Given the description of an element on the screen output the (x, y) to click on. 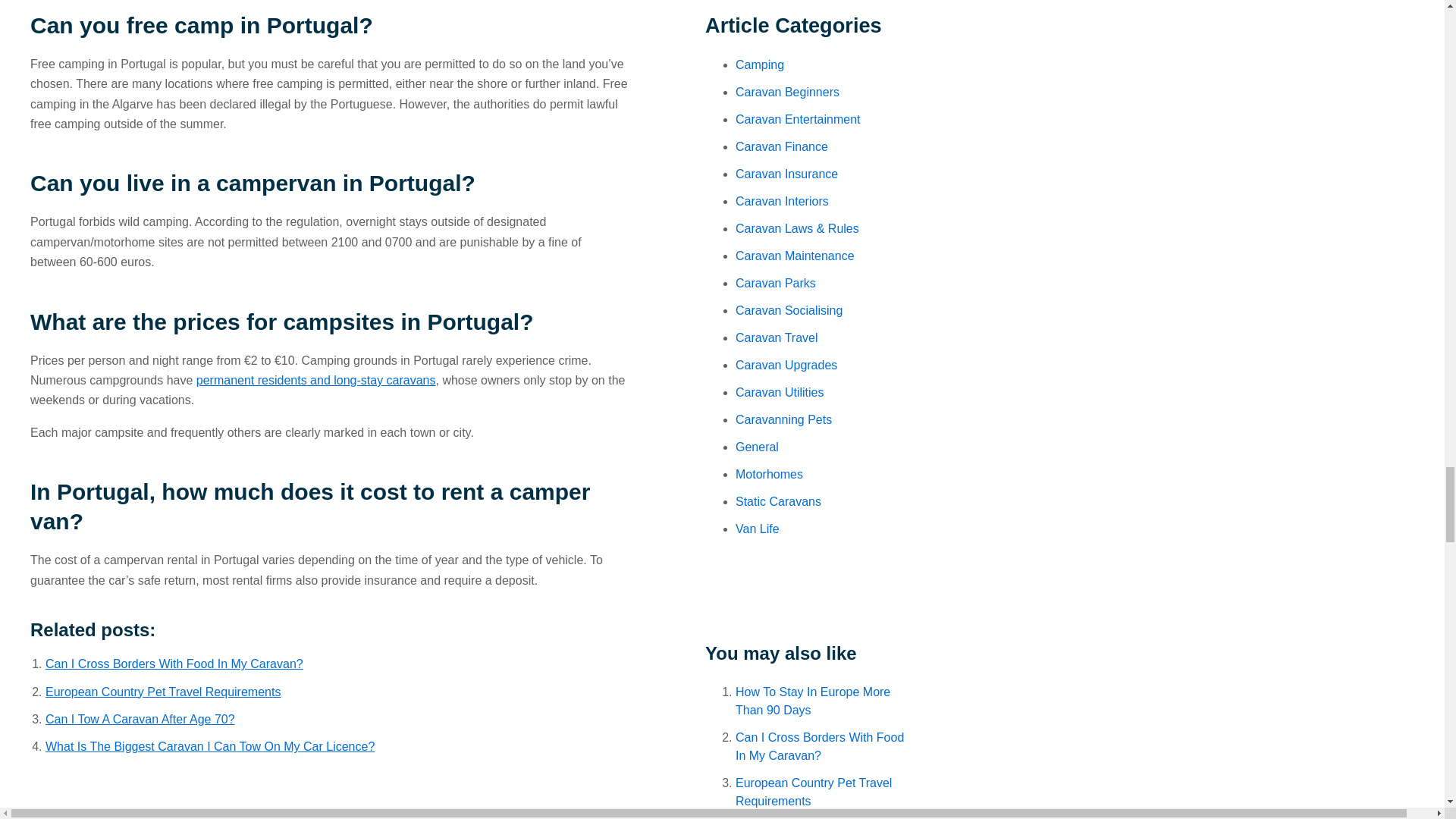
European Country Pet Travel Requirements (163, 691)
Can I Tow A Caravan After Age 70? (139, 718)
What Is The Biggest Caravan I Can Tow On My Car Licence? (209, 746)
Can I Cross Borders With Food In My Caravan? (173, 663)
